Given the description of an element on the screen output the (x, y) to click on. 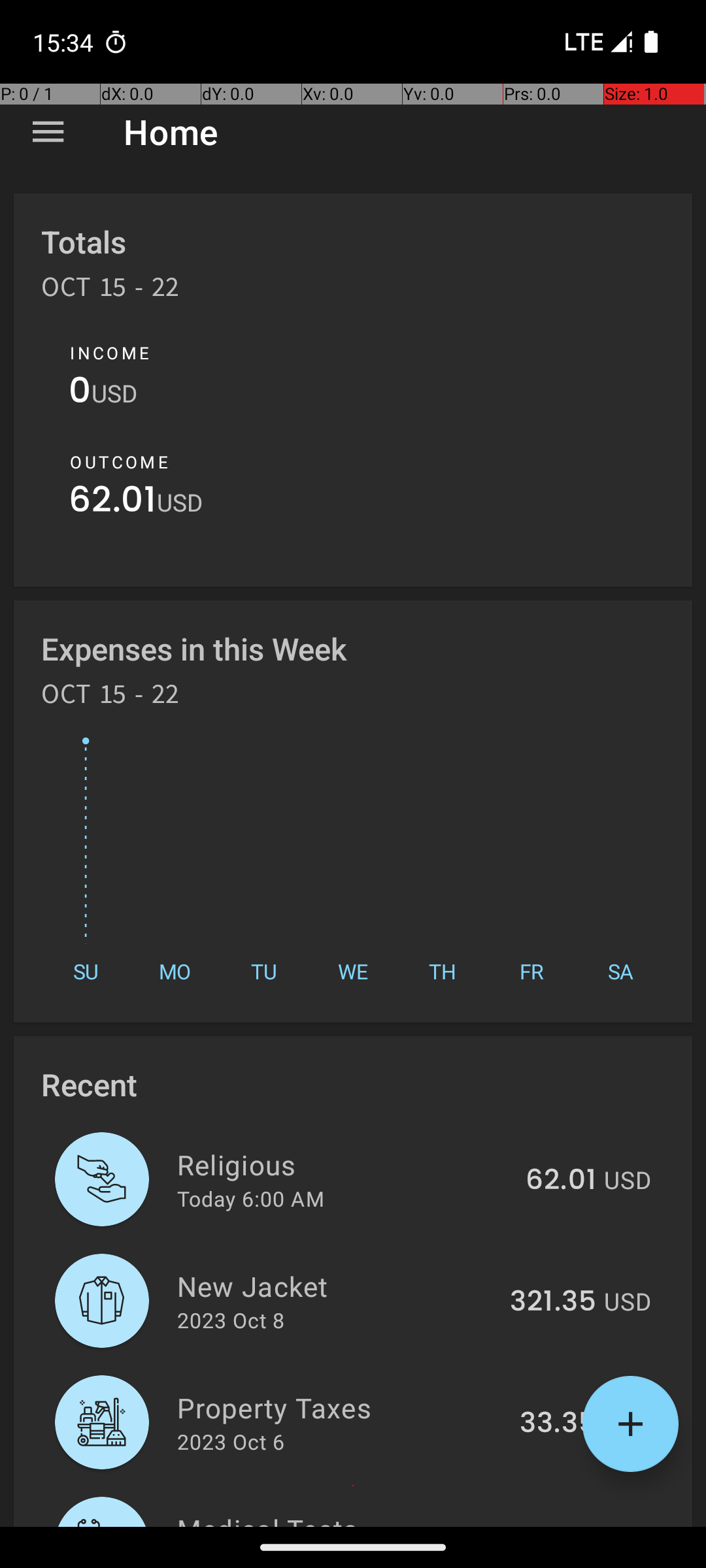
62.01 Element type: android.widget.TextView (112, 502)
Religious Element type: android.widget.TextView (343, 1164)
Today 6:00 AM Element type: android.widget.TextView (250, 1198)
New Jacket Element type: android.widget.TextView (335, 1285)
321.35 Element type: android.widget.TextView (552, 1301)
Property Taxes Element type: android.widget.TextView (340, 1407)
2023 Oct 6 Element type: android.widget.TextView (230, 1441)
33.35 Element type: android.widget.TextView (557, 1423)
Medical Tests Element type: android.widget.TextView (338, 1518)
417.19 Element type: android.widget.TextView (555, 1524)
